Given the description of an element on the screen output the (x, y) to click on. 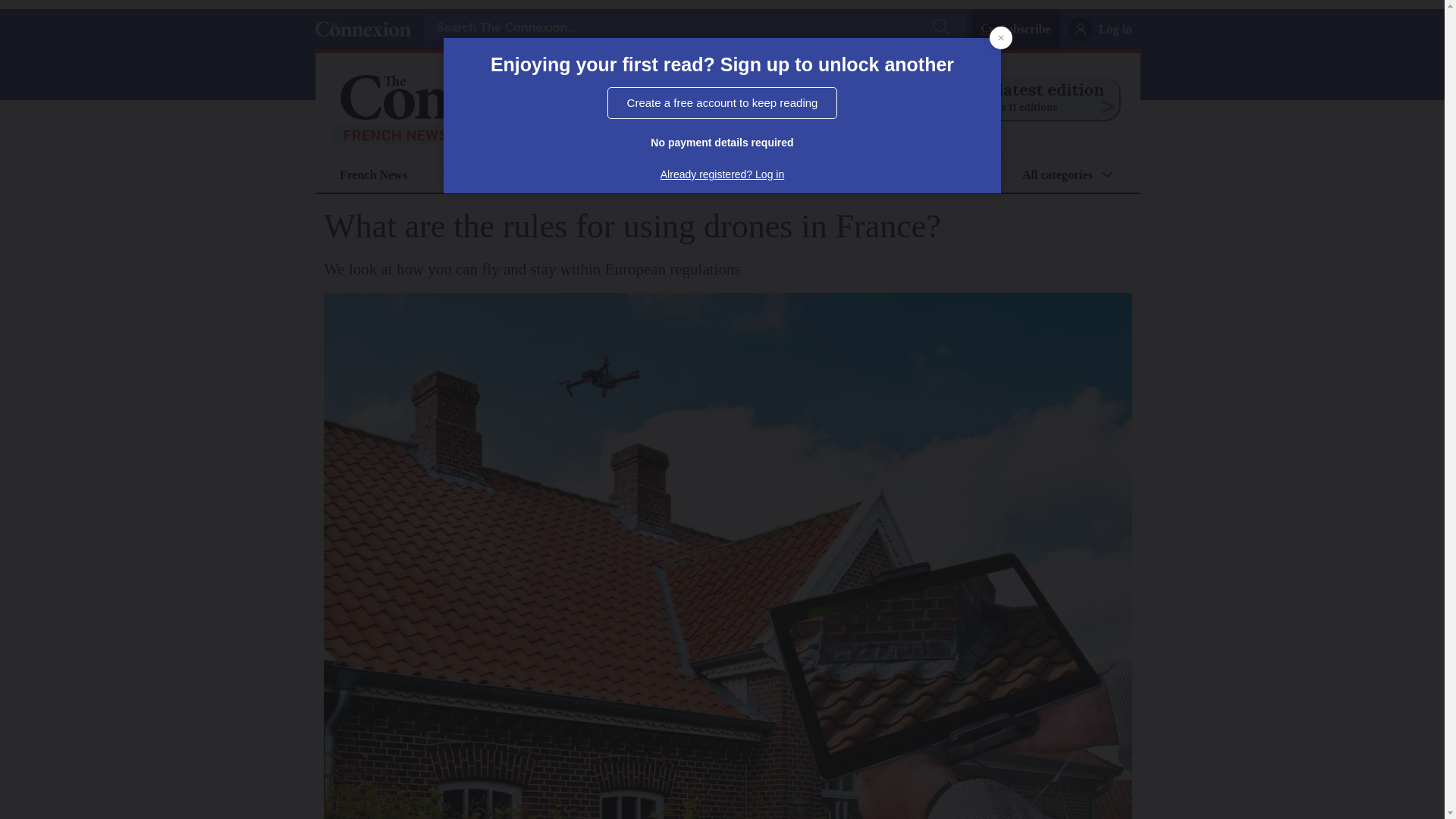
Subscribe (1024, 28)
